Given the description of an element on the screen output the (x, y) to click on. 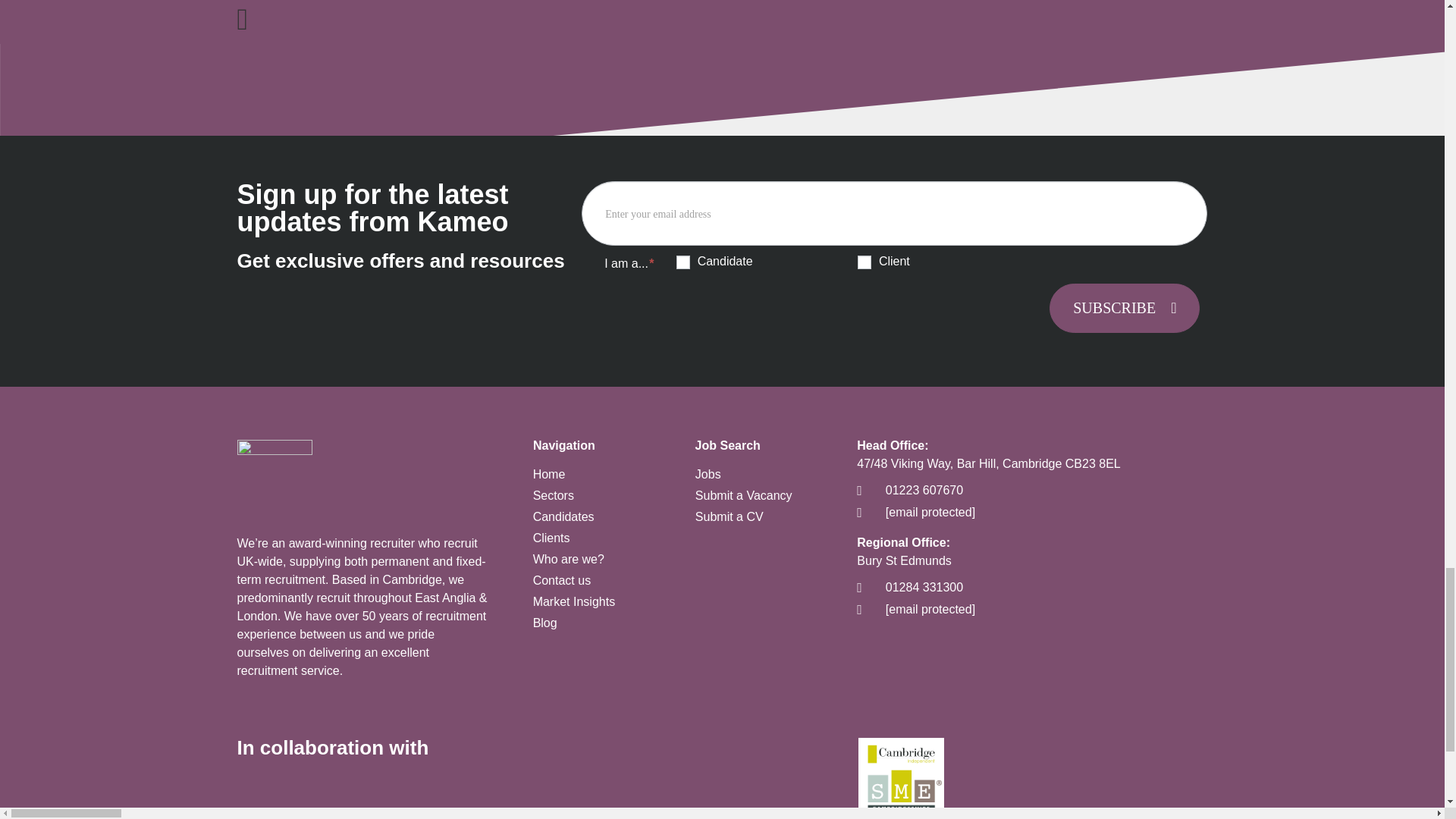
Client (863, 262)
Candidate (683, 262)
